Given the description of an element on the screen output the (x, y) to click on. 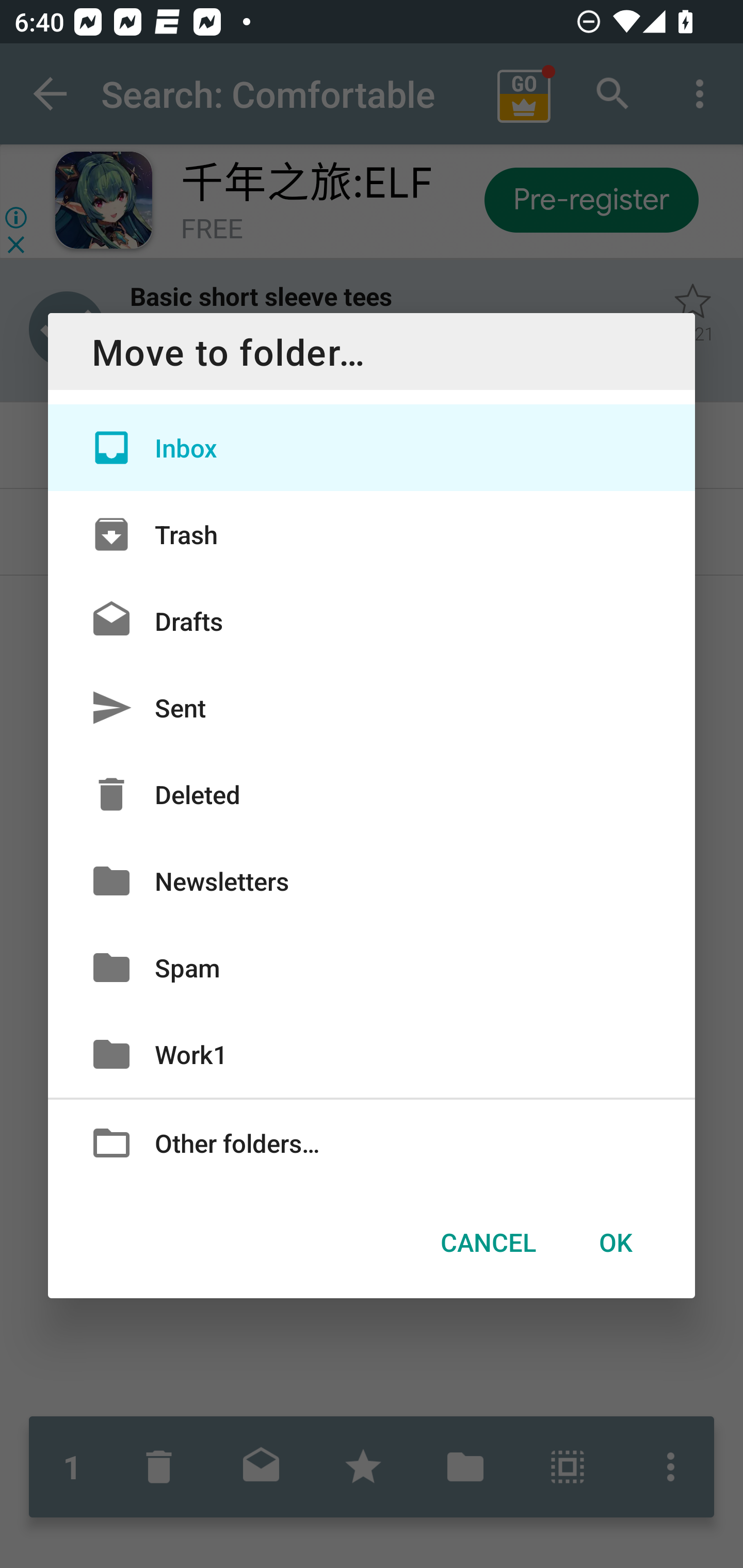
Inbox (371, 447)
Trash (371, 533)
Drafts (371, 620)
Sent (371, 707)
Deleted (371, 794)
Newsletters (371, 880)
Spam (371, 967)
Work1 (371, 1054)
Other folders… (371, 1141)
CANCEL (488, 1241)
OK (615, 1241)
